Given the description of an element on the screen output the (x, y) to click on. 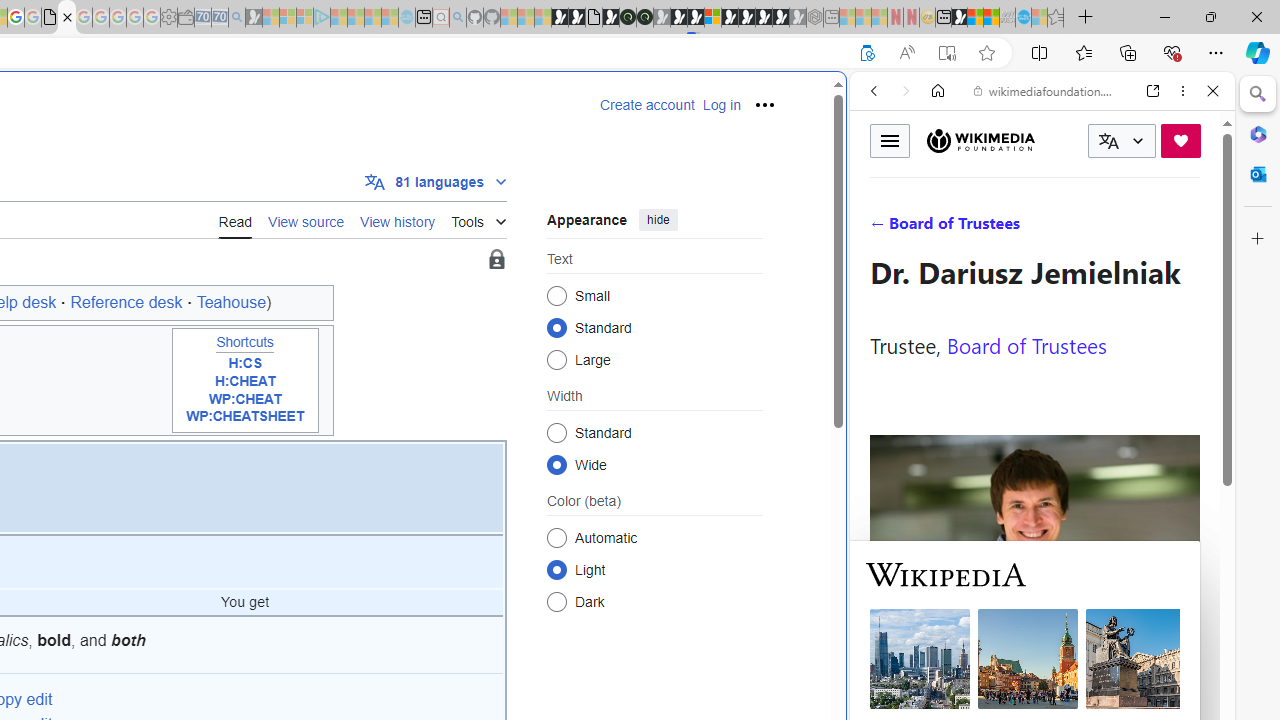
Class: i icon icon-translate language-switcher__icon (1108, 141)
WP:CHEAT (244, 399)
Tools (478, 218)
WEB   (882, 228)
Small (556, 295)
H:CHEAT (244, 381)
Play Cave FRVR in your browser | Games from Microsoft Start (343, 426)
WP:CHEATSHEET (244, 417)
